Given the description of an element on the screen output the (x, y) to click on. 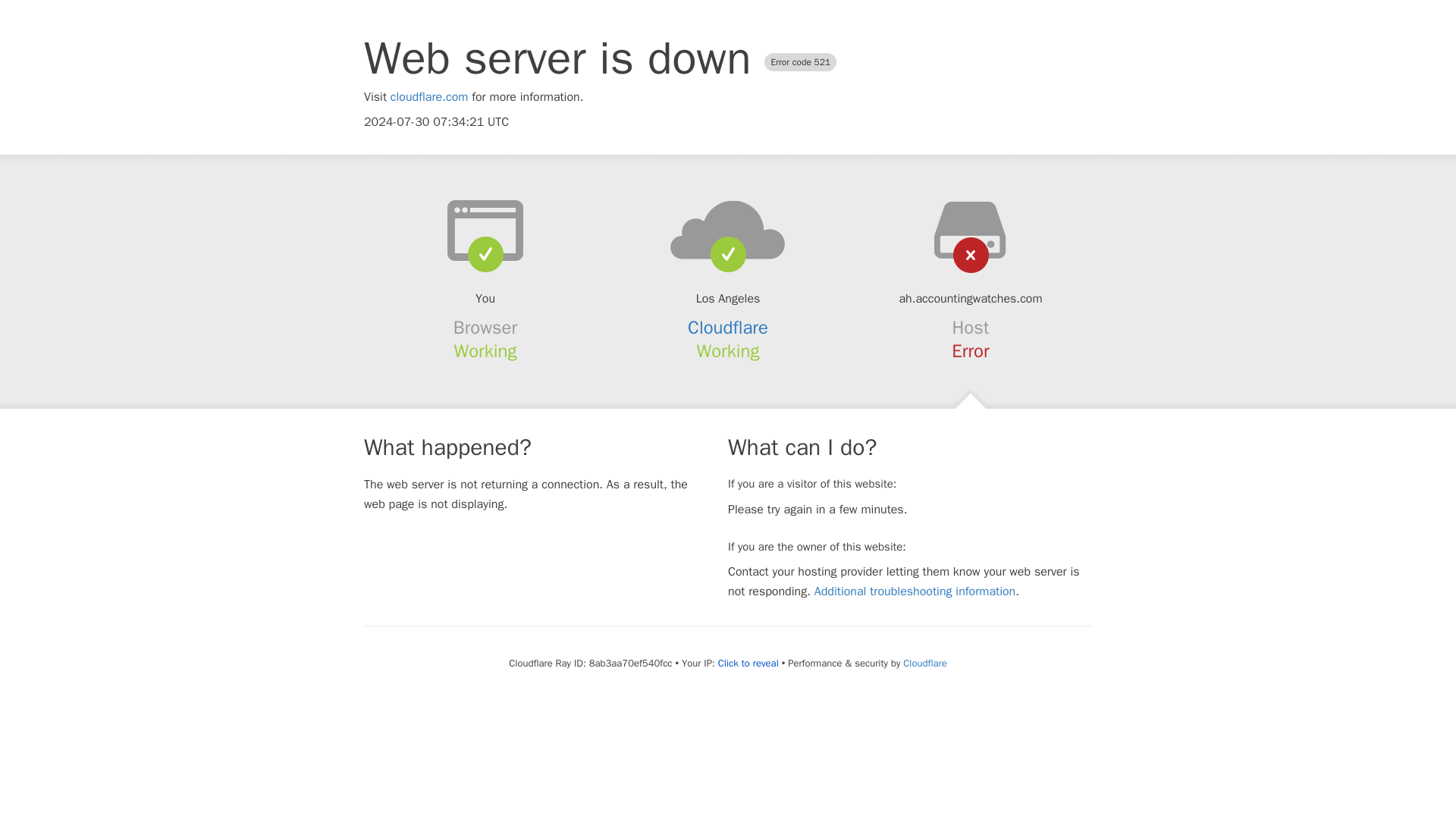
Click to reveal (747, 663)
Additional troubleshooting information (913, 590)
cloudflare.com (429, 96)
Cloudflare (727, 327)
Cloudflare (924, 662)
